Given the description of an element on the screen output the (x, y) to click on. 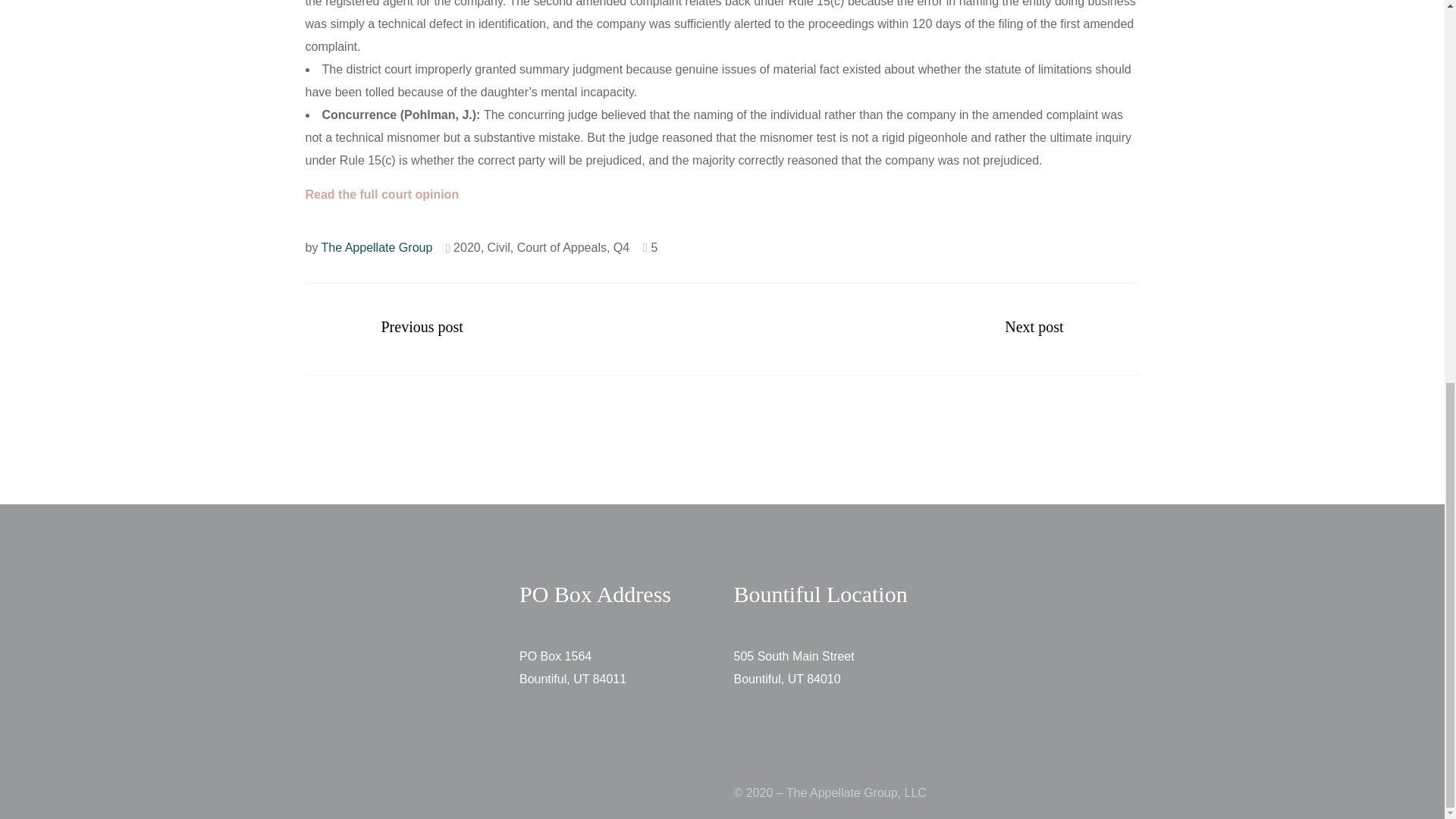
Like this (650, 246)
